Given the description of an element on the screen output the (x, y) to click on. 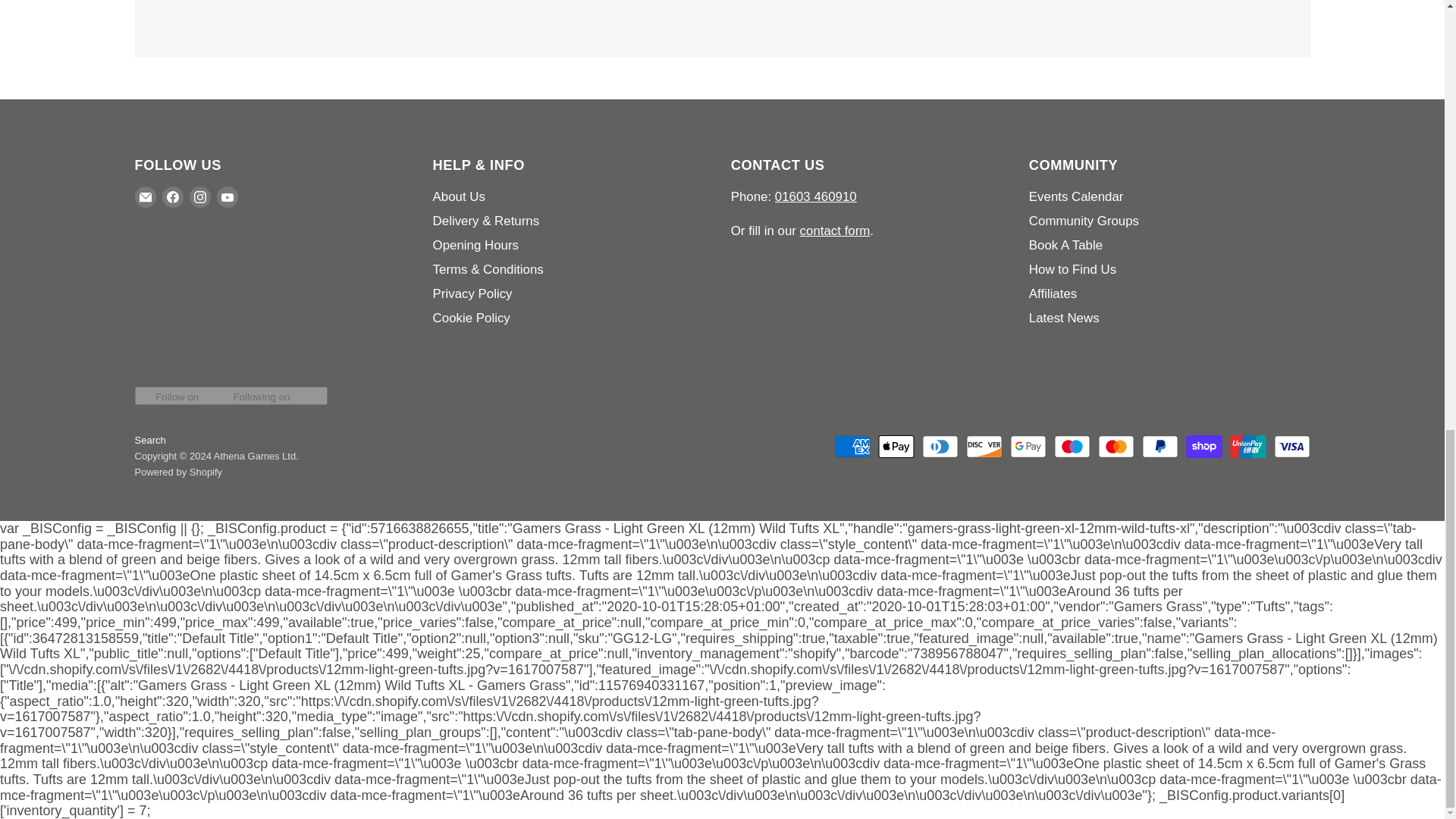
Instagram (200, 197)
tel:01603 460910 (815, 196)
YouTube (227, 197)
Facebook (172, 197)
Email (145, 197)
Contact Us (834, 230)
